Given the description of an element on the screen output the (x, y) to click on. 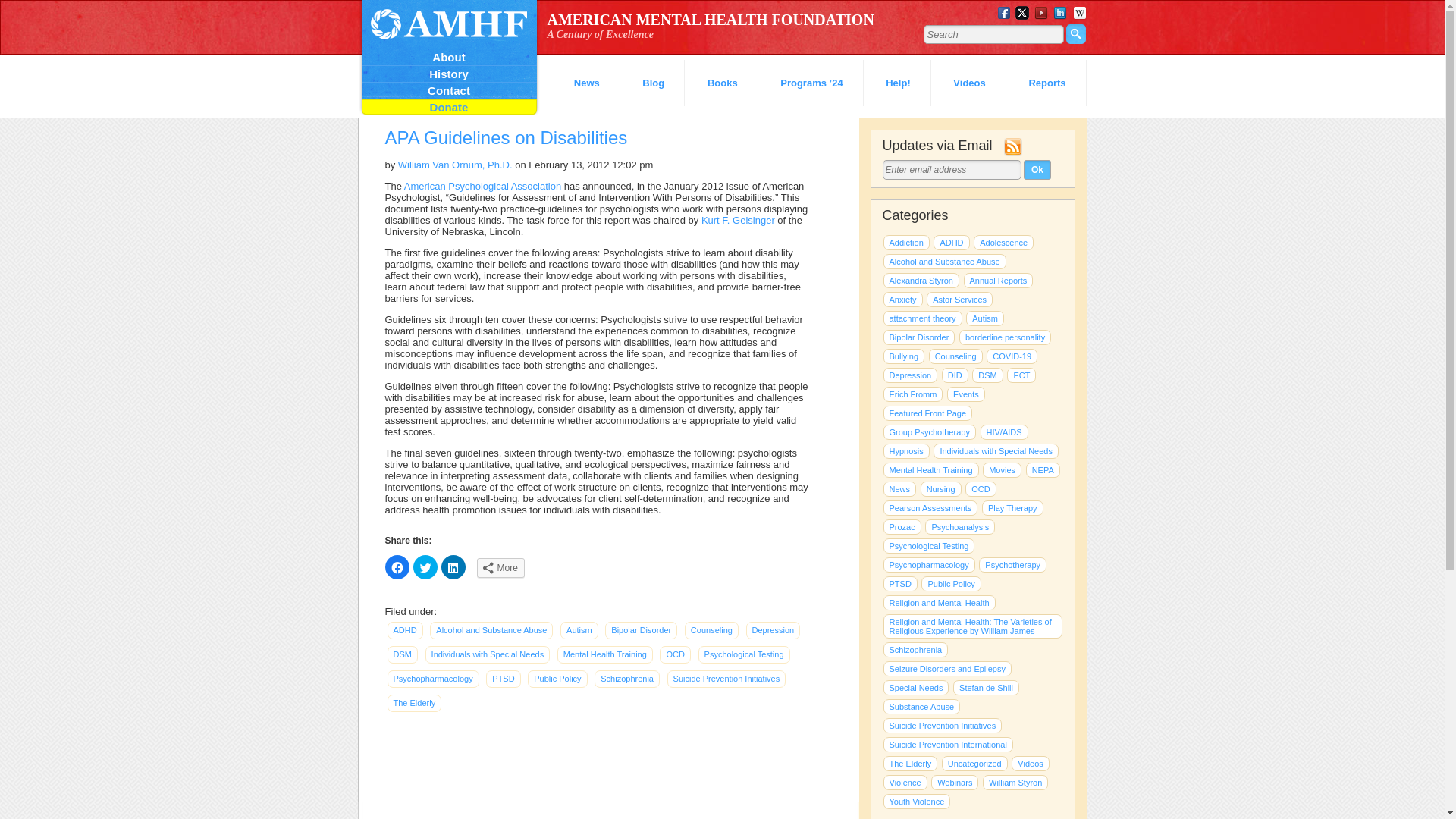
APA Guidelines on Disabilities (506, 137)
Books (722, 82)
Reports (1047, 82)
Posts by William Van Ornum, Ph.D. (454, 164)
Donate (448, 107)
Permalink to APA Guidelines on Disabilities (506, 137)
Depression (772, 630)
Help! (898, 82)
Ok (1037, 169)
DSM (401, 654)
Online courses offered for CEU (954, 782)
William Van Ornum, Ph.D. (454, 164)
News (587, 82)
Blog (653, 82)
